Given the description of an element on the screen output the (x, y) to click on. 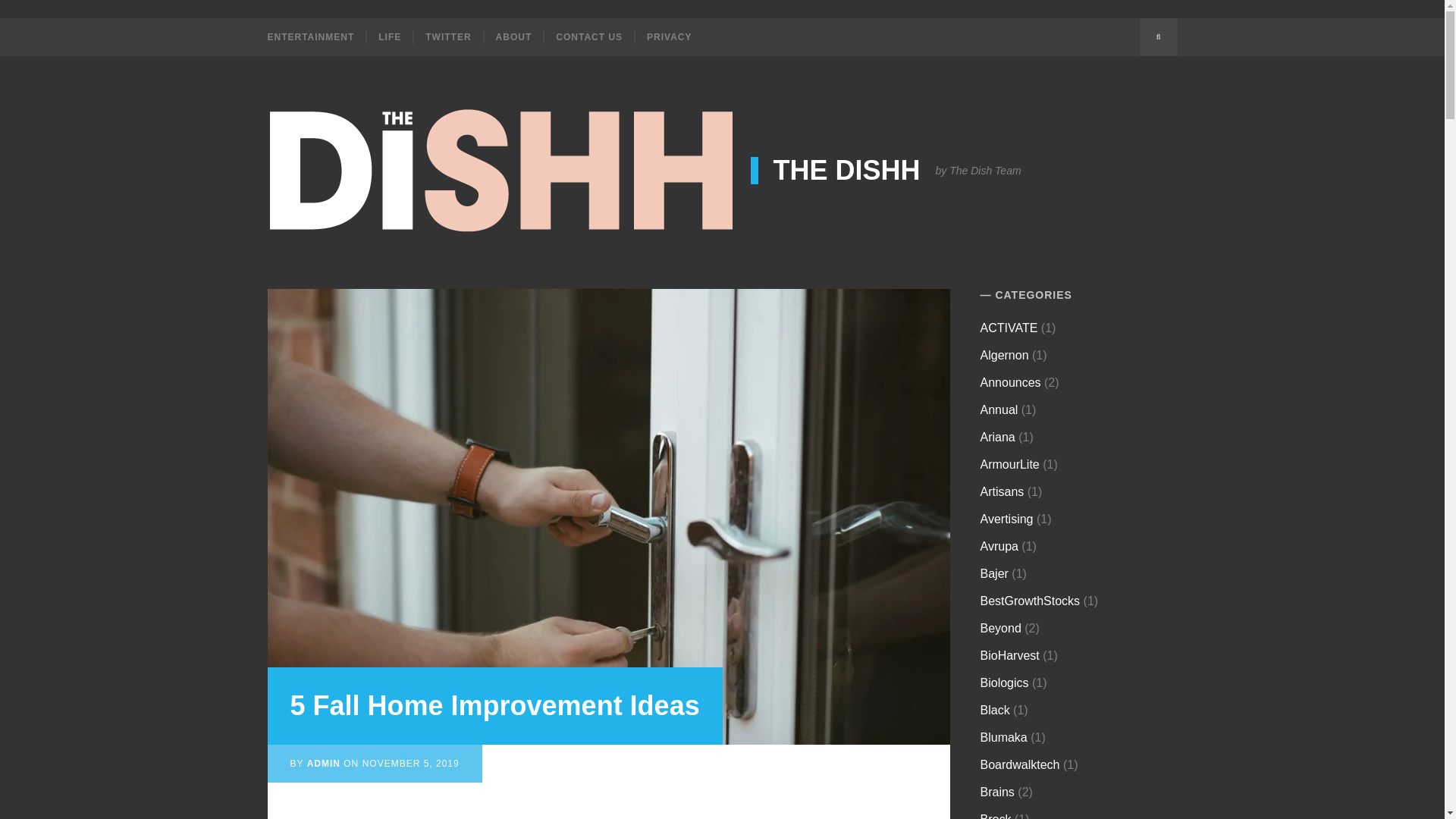
Ariana (996, 436)
TWITTER (446, 37)
Algernon (1004, 354)
BestGrowthStocks (1029, 600)
Beyond (1000, 627)
ArmourLite (1009, 463)
ENTERTAINMENT (315, 37)
Announces (1010, 382)
ACTIVATE (1008, 327)
Bajer (994, 573)
